Given the description of an element on the screen output the (x, y) to click on. 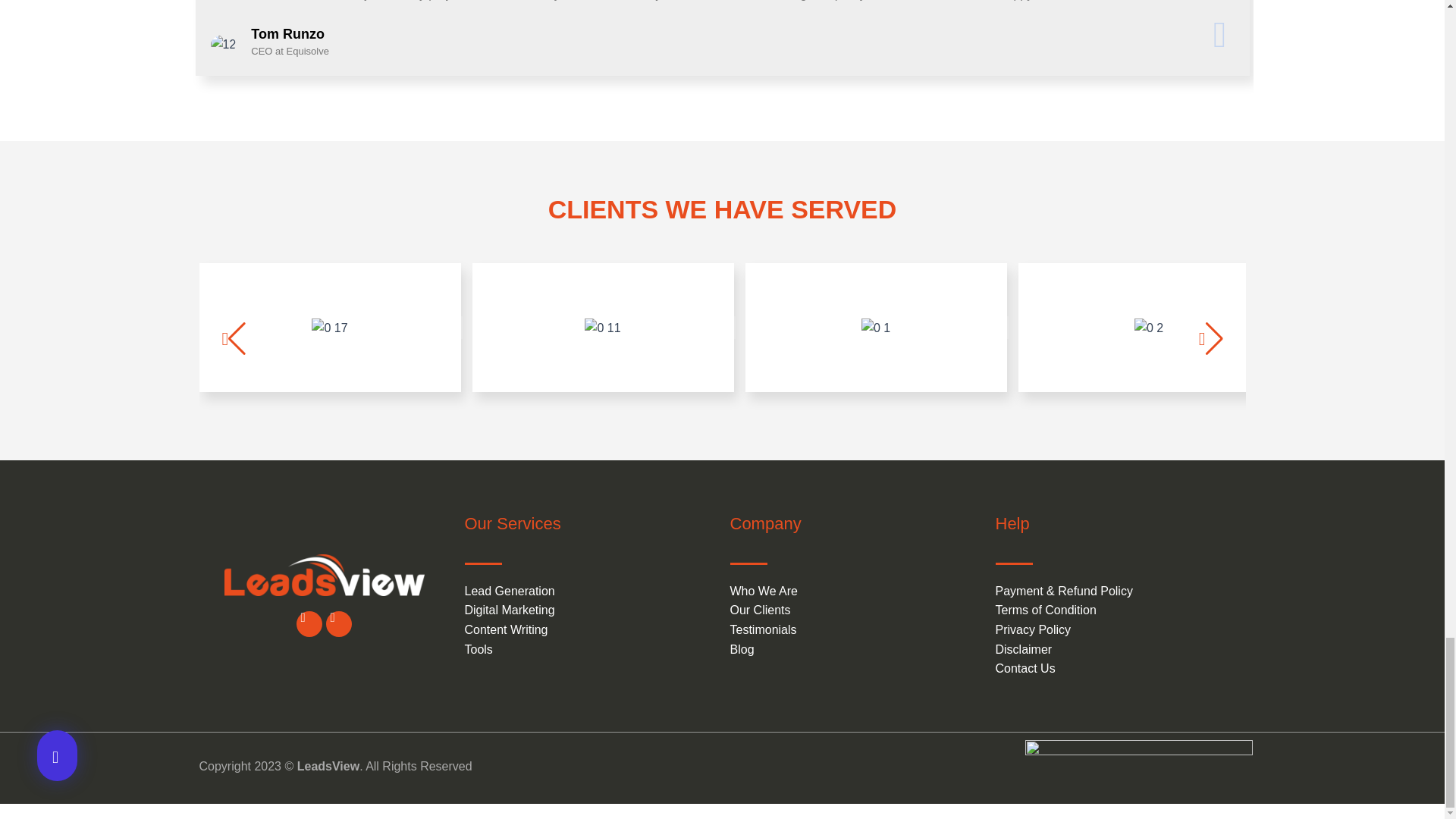
lead generation-1 (875, 327)
lead generation-11 (602, 327)
lead generation-17 (329, 327)
lead generation-2 (1148, 327)
